Given the description of an element on the screen output the (x, y) to click on. 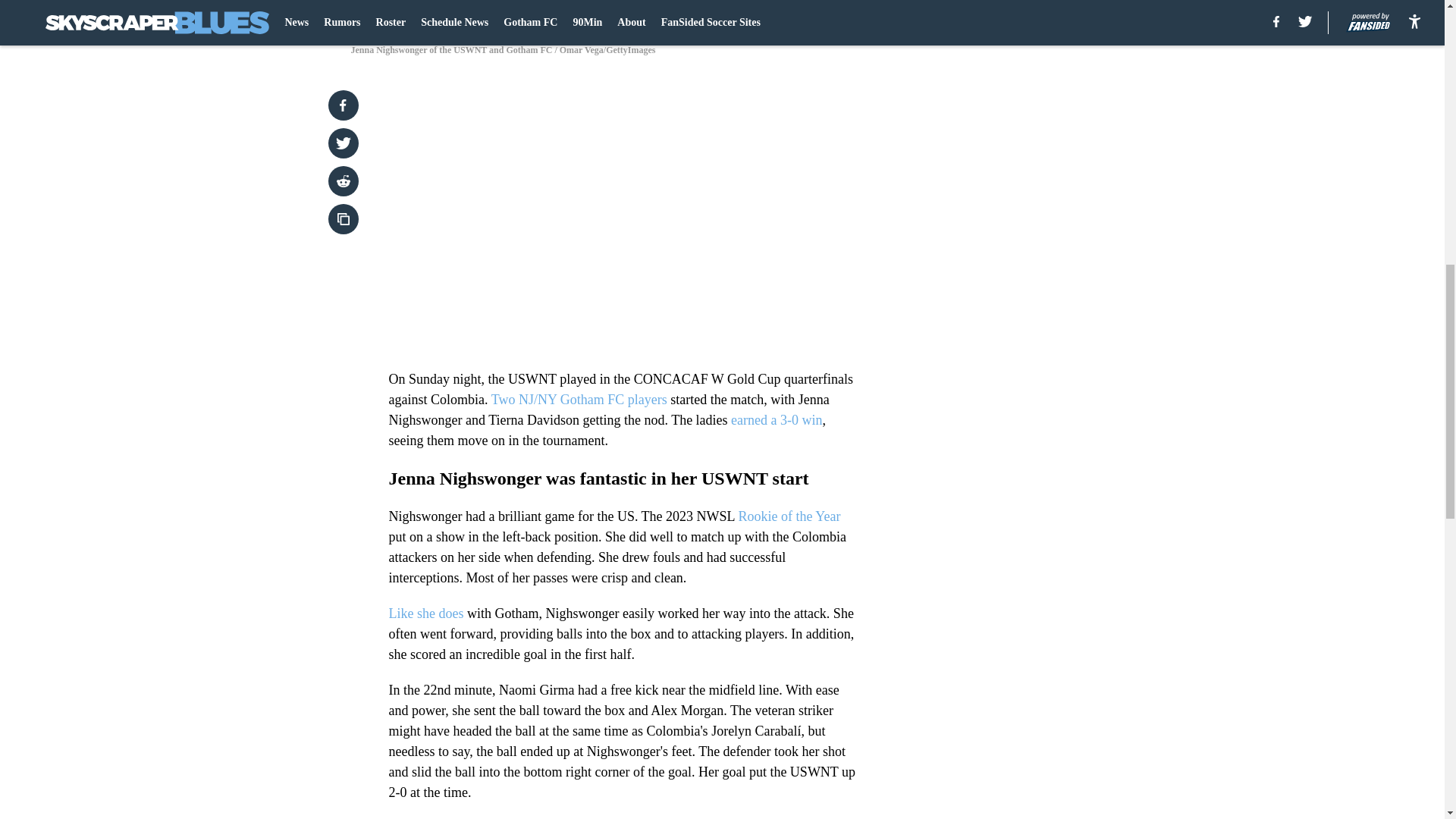
Like she does (425, 613)
Rookie of the Year (789, 516)
Jenna Nighswonger of the USWNT and Gotham FC (721, 14)
earned a 3-0 win (776, 419)
